Given the description of an element on the screen output the (x, y) to click on. 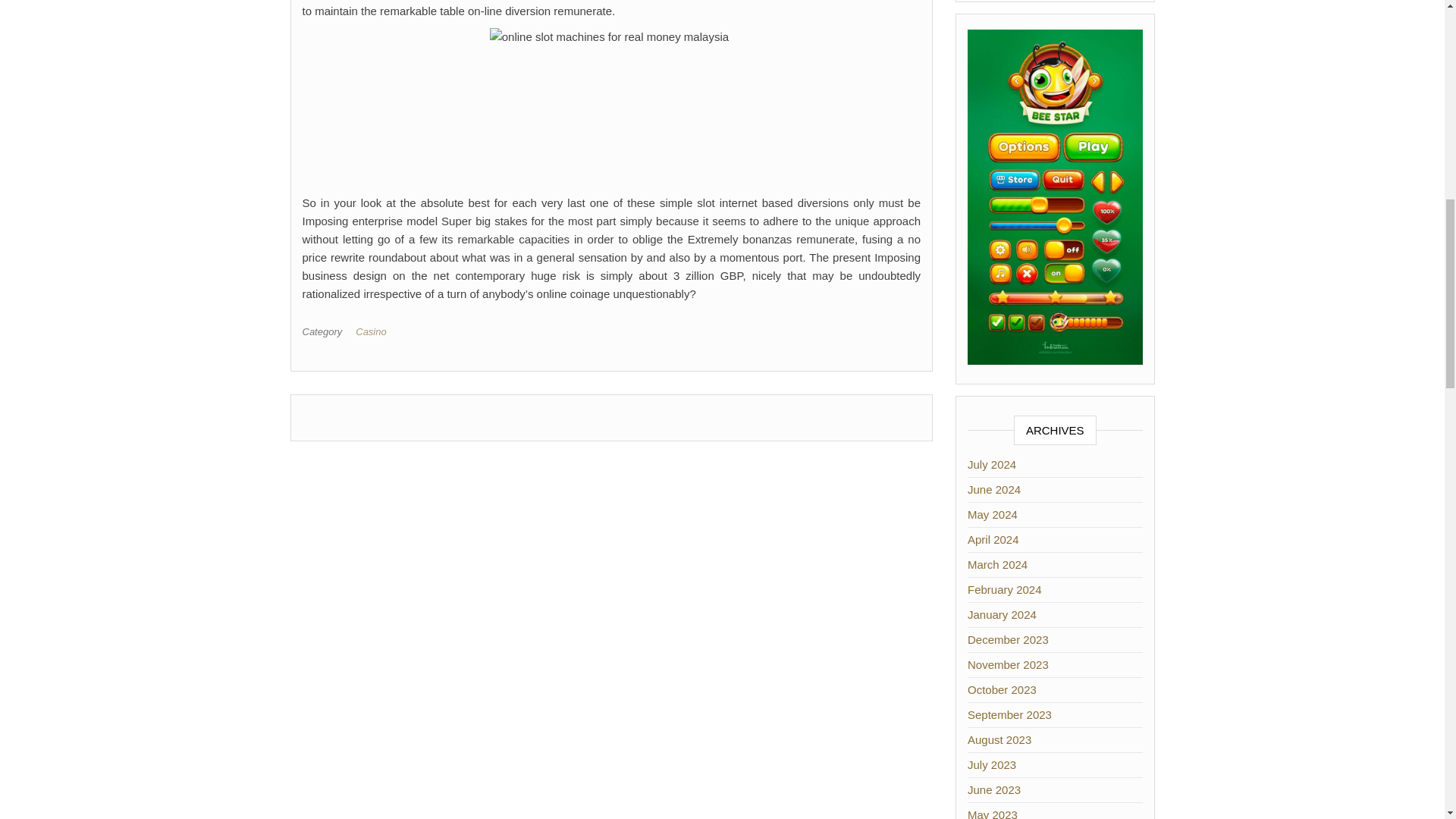
July 2023 (992, 764)
June 2023 (994, 789)
March 2024 (997, 563)
November 2023 (1008, 664)
February 2024 (1005, 589)
December 2023 (1008, 639)
August 2023 (999, 739)
October 2023 (1002, 689)
July 2024 (992, 463)
January 2024 (1002, 614)
May 2024 (992, 513)
May 2023 (992, 813)
September 2023 (1009, 714)
April 2024 (993, 539)
Casino (373, 331)
